Given the description of an element on the screen output the (x, y) to click on. 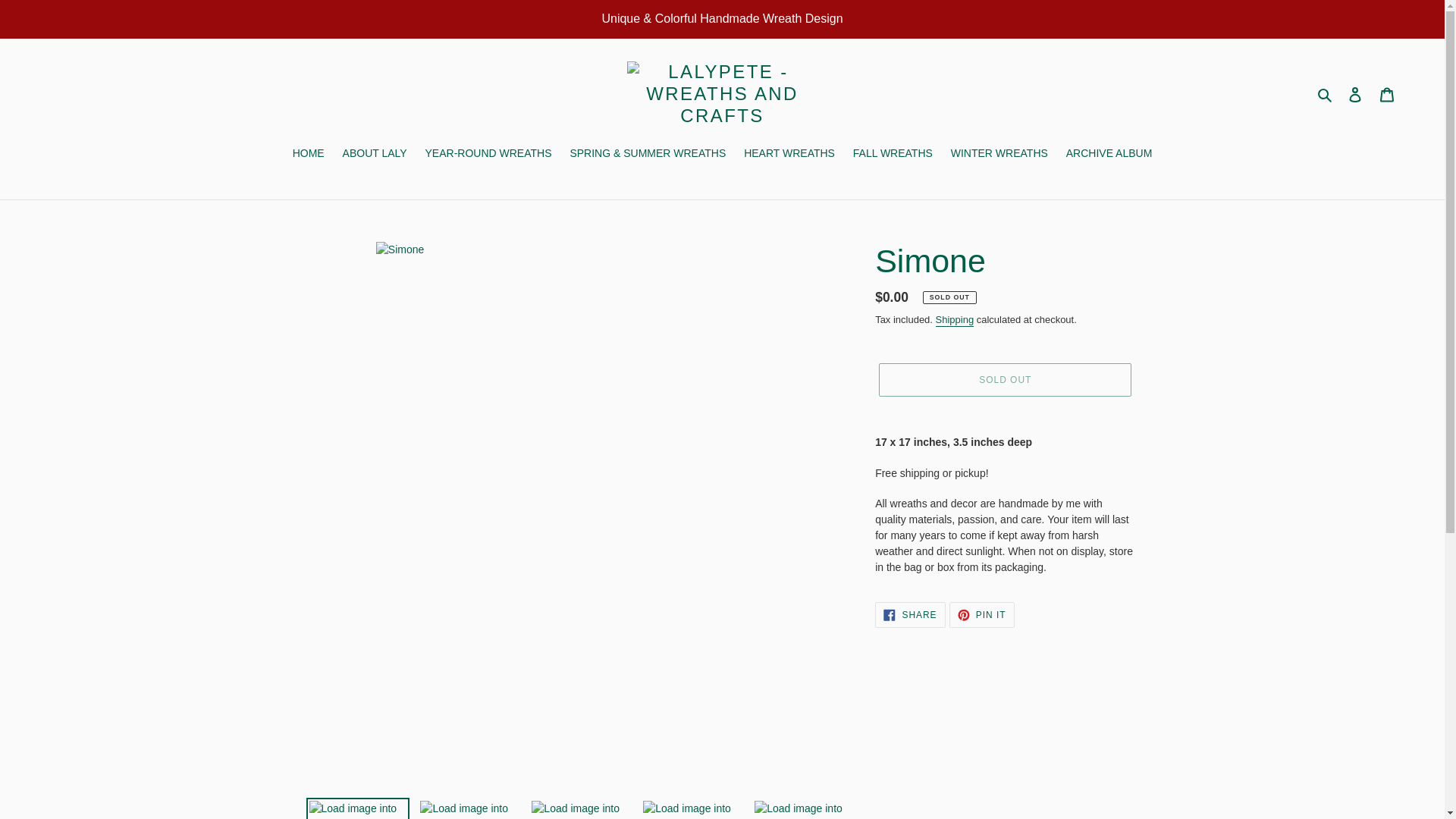
WINTER WREATHS (999, 154)
FALL WREATHS (892, 154)
Cart (1387, 93)
HEART WREATHS (789, 154)
Search (1326, 94)
ARCHIVE ALBUM (1109, 154)
YEAR-ROUND WREATHS (488, 154)
HOME (308, 154)
ABOUT LALY (374, 154)
Log in (1355, 93)
Shipping (955, 319)
